Given the description of an element on the screen output the (x, y) to click on. 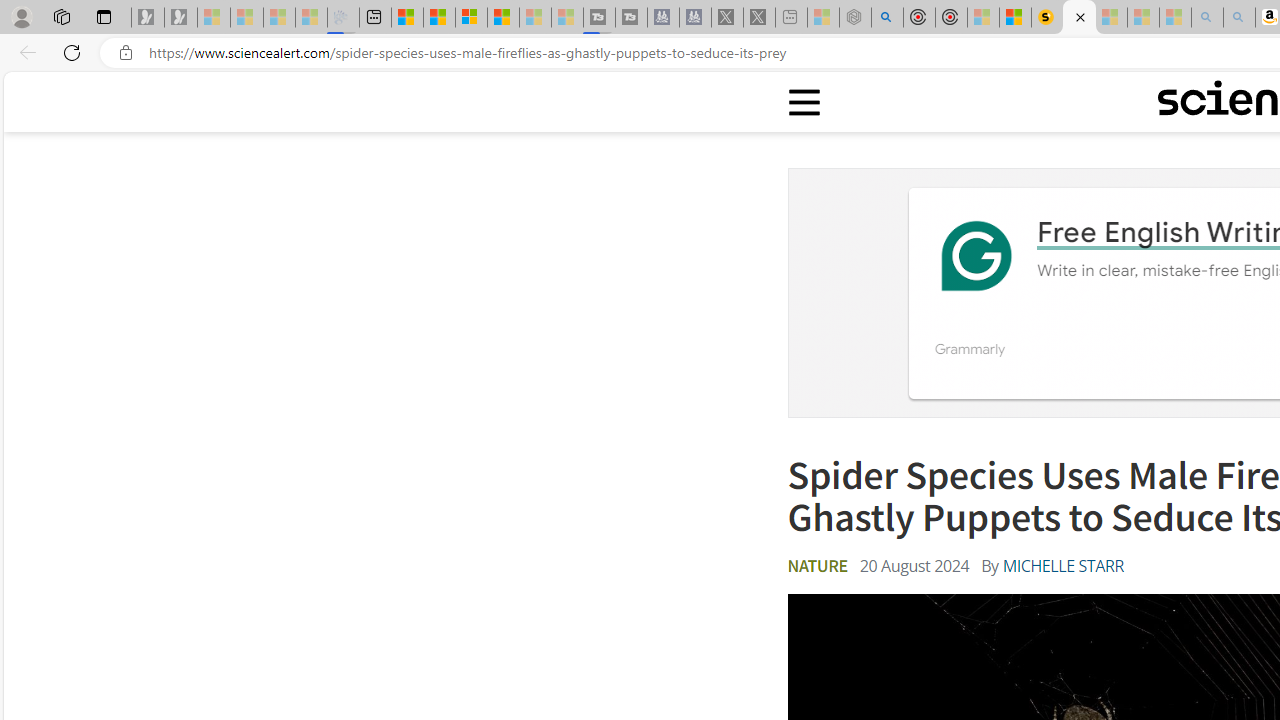
Class: sciencealert-menu-desktop-svg  (803, 102)
NATURE (817, 565)
